Given the description of an element on the screen output the (x, y) to click on. 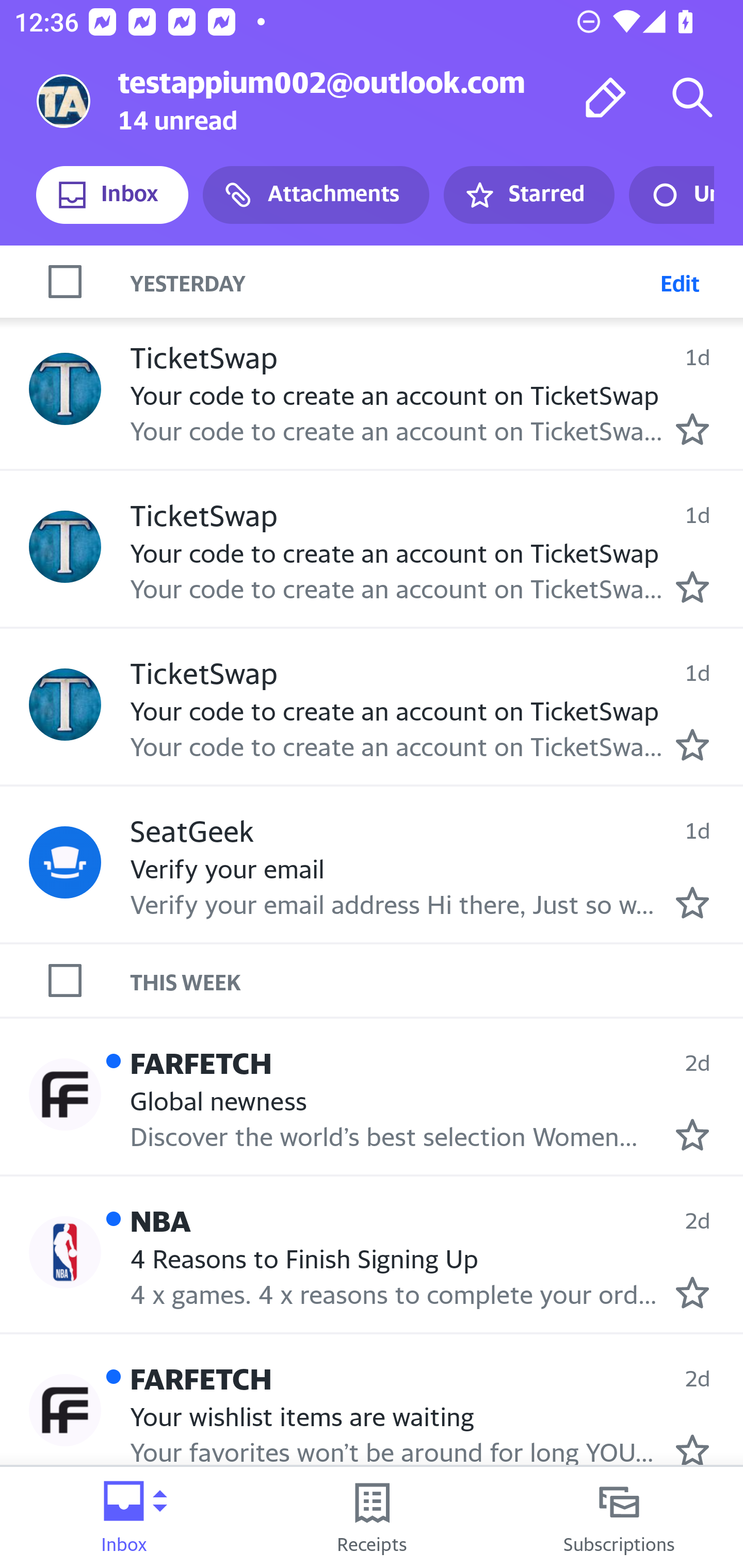
Compose (605, 97)
Search mail (692, 97)
Attachments (315, 195)
Starred (528, 195)
Profile
TicketSwap (64, 388)
Mark as starred. (692, 428)
Profile
TicketSwap (64, 547)
Mark as starred. (692, 587)
Profile
TicketSwap (64, 703)
Mark as starred. (692, 744)
Profile
SeatGeek (64, 862)
Mark as starred. (692, 902)
THIS WEEK (436, 980)
Profile
FARFETCH (64, 1094)
Mark as starred. (692, 1134)
Profile
NBA (64, 1252)
Mark as starred. (692, 1292)
Profile
FARFETCH (64, 1409)
Mark as starred. (692, 1450)
Inbox Folder picker (123, 1517)
Receipts (371, 1517)
Subscriptions (619, 1517)
